Given the description of an element on the screen output the (x, y) to click on. 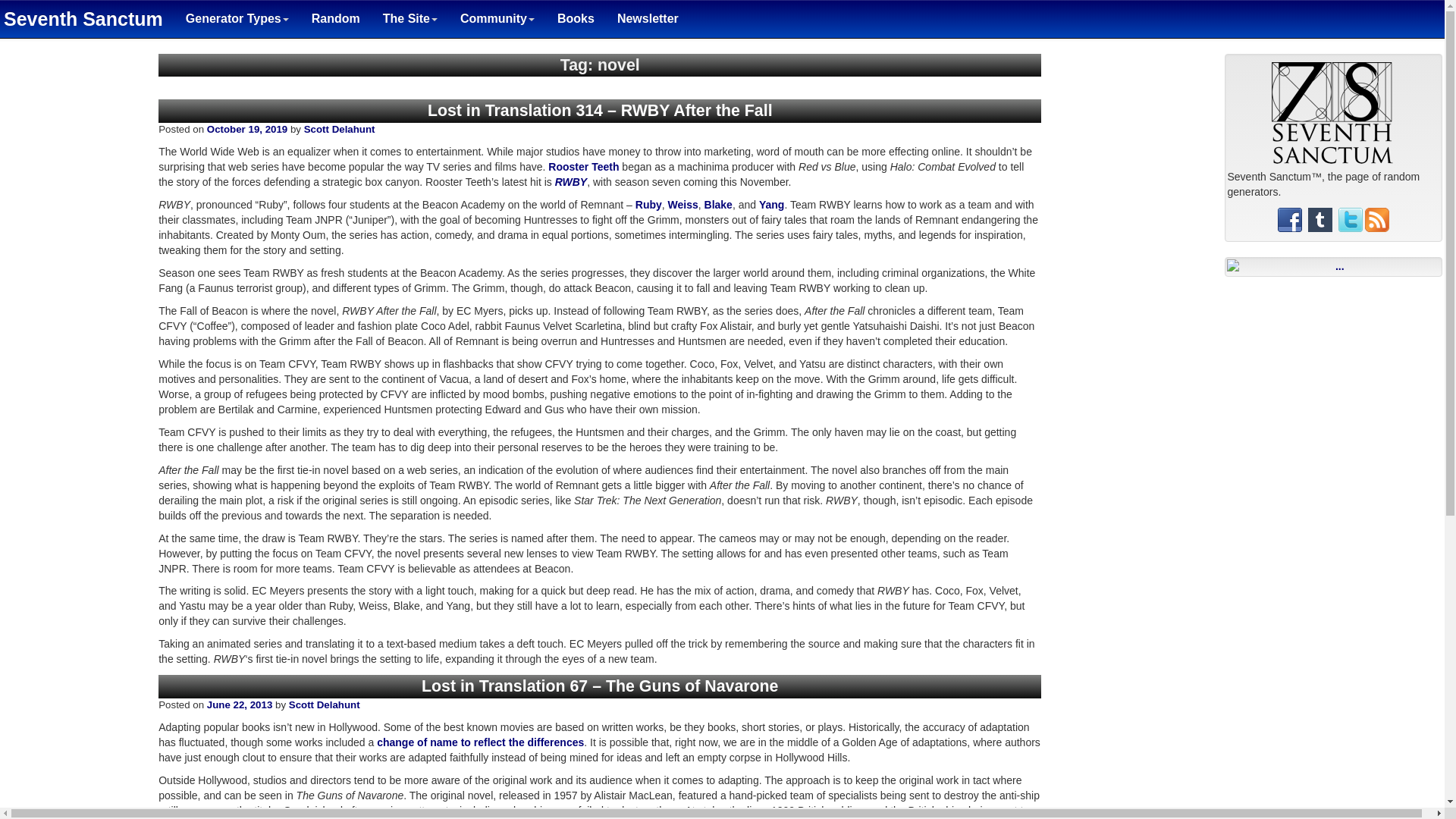
October 19, 2019 (246, 129)
The Site (409, 18)
Community (497, 18)
Random (335, 18)
RWBY (571, 182)
Ruby (648, 204)
Newsletter (647, 18)
View all posts by Scott Delahunt (323, 704)
Rooster Teeth (583, 166)
Generator Types (236, 18)
